Given the description of an element on the screen output the (x, y) to click on. 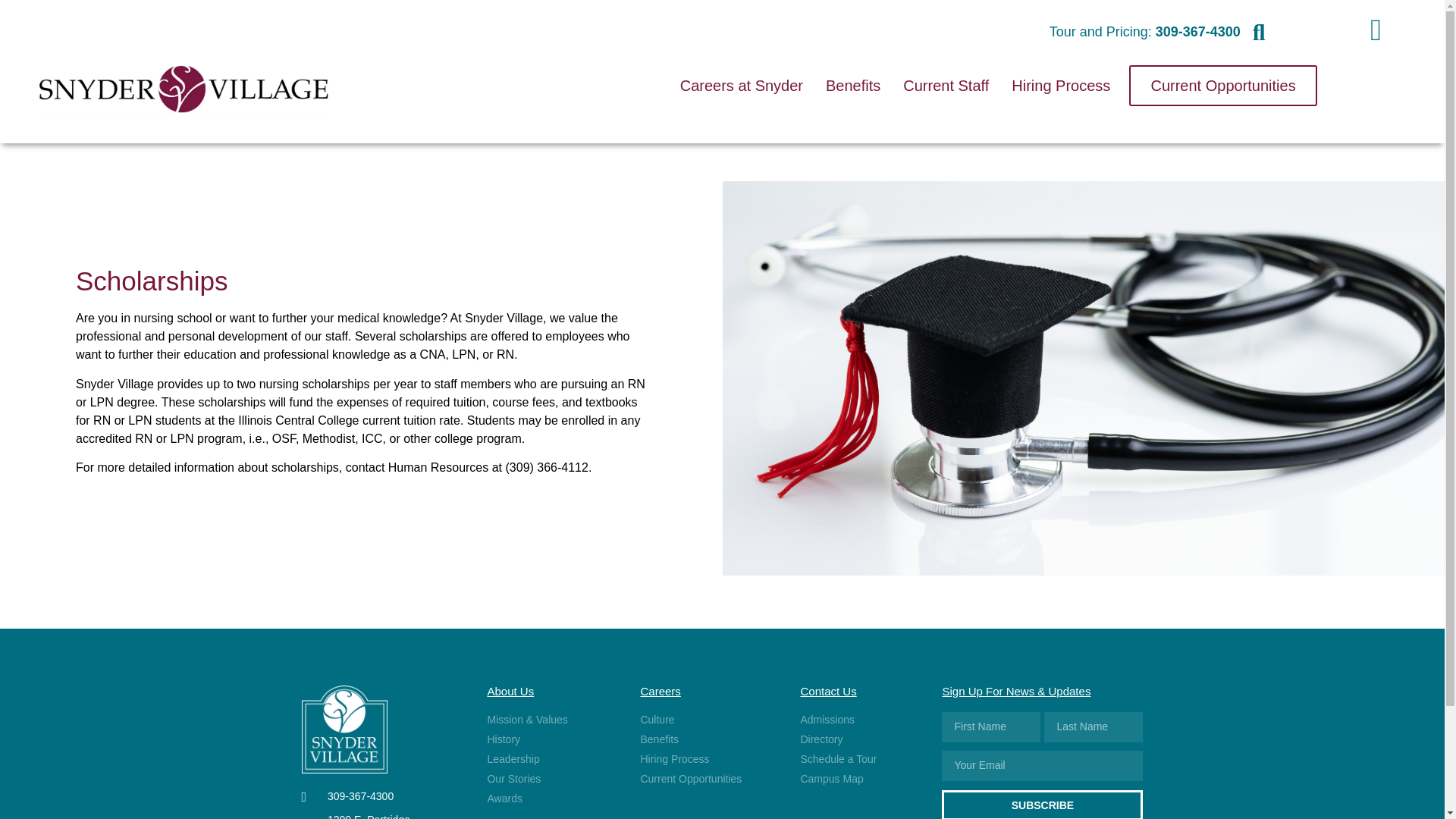
309-367-4300 (382, 796)
History (551, 739)
Awards (551, 798)
Leadership (551, 759)
Admissions (858, 719)
Current Opportunities (708, 779)
Current Opportunities (1222, 85)
Careers at Snyder (741, 85)
Hiring Process (1060, 85)
Benefits (708, 739)
Benefits (852, 85)
Directory (382, 815)
Hiring Process (858, 739)
Culture (708, 759)
